Given the description of an element on the screen output the (x, y) to click on. 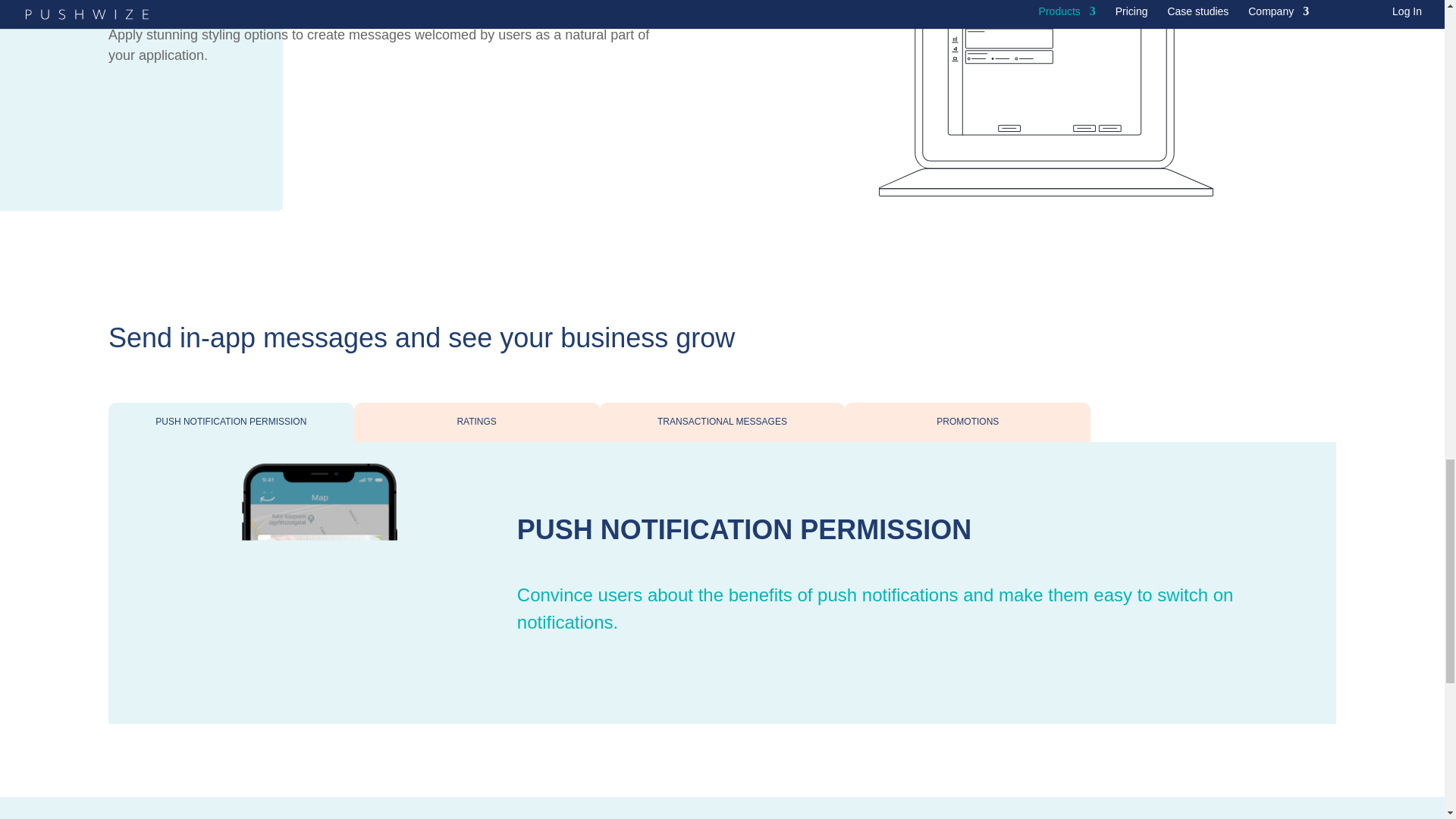
TRANSACTIONAL MESSAGES (722, 422)
RATINGS (476, 422)
PUSH NOTIFICATION PERMISSION (230, 422)
PROMOTIONS (967, 422)
